Given the description of an element on the screen output the (x, y) to click on. 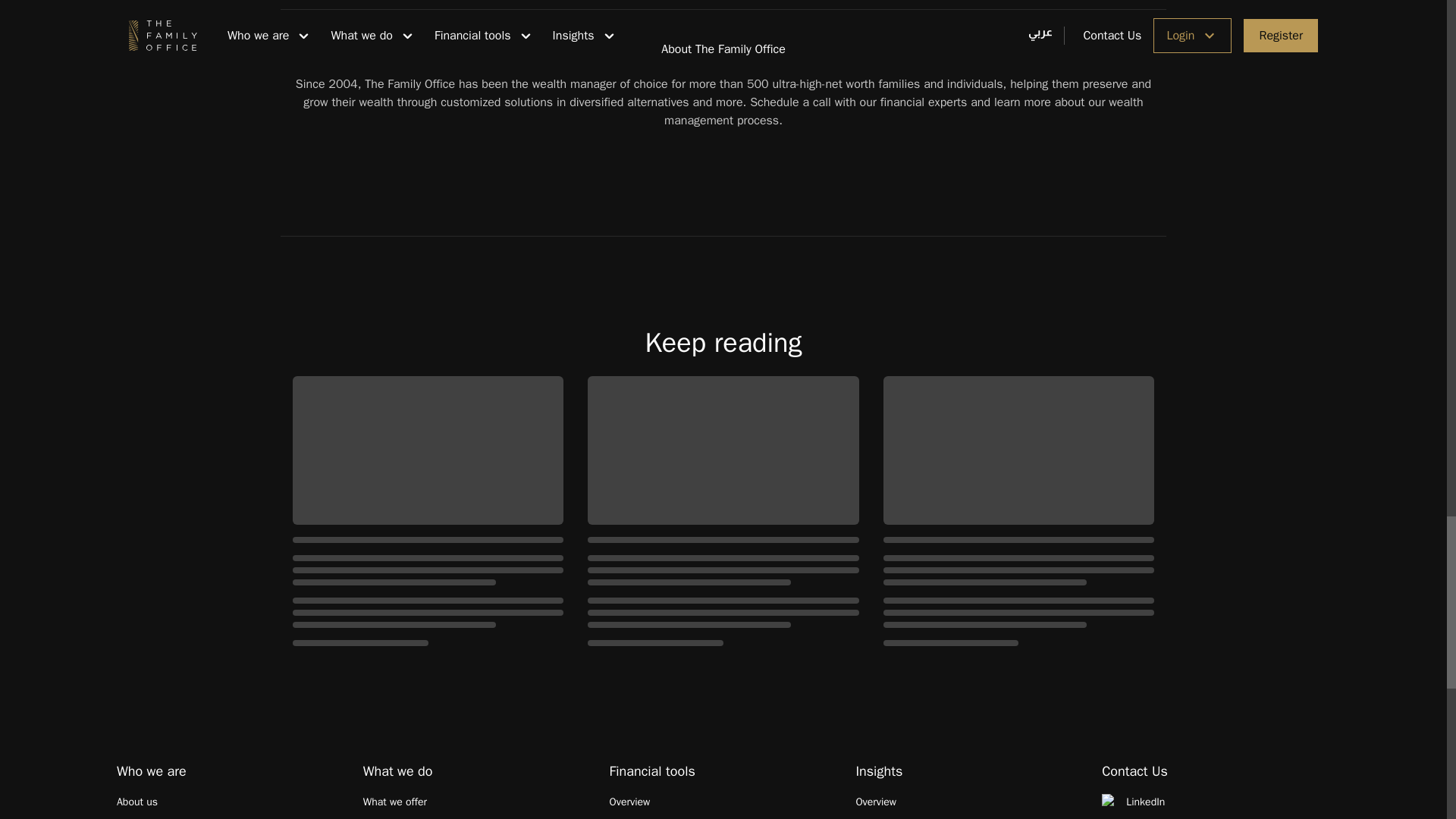
About us (230, 801)
Overview (724, 801)
What we offer (476, 801)
Overview (969, 801)
LinkedIn (1216, 801)
